Given the description of an element on the screen output the (x, y) to click on. 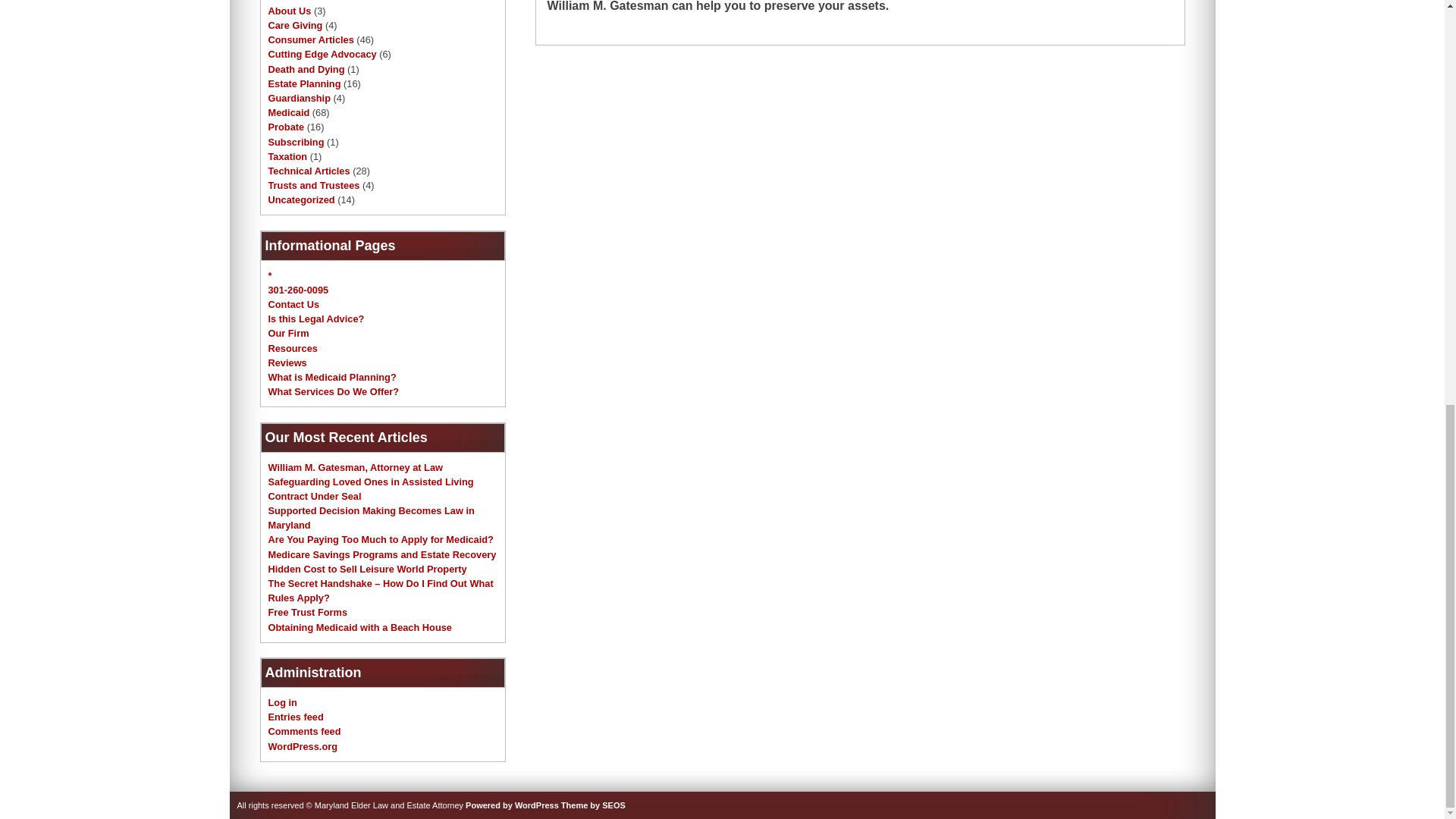
Death and Dying (306, 69)
Resources (292, 348)
Consumer Articles (310, 39)
Care Giving (295, 25)
Technical Articles (308, 170)
What is Medicaid Planning? (331, 377)
Safeguarding Loved Ones in Assisted Living (370, 481)
301-260-0095 (298, 289)
Probate (285, 126)
William M. Gatesman, Attorney at Law (355, 467)
Uncategorized (300, 199)
Contract Under Seal (314, 496)
Is this Legal Advice? (316, 318)
Our Firm (287, 333)
Reviews (287, 362)
